Given the description of an element on the screen output the (x, y) to click on. 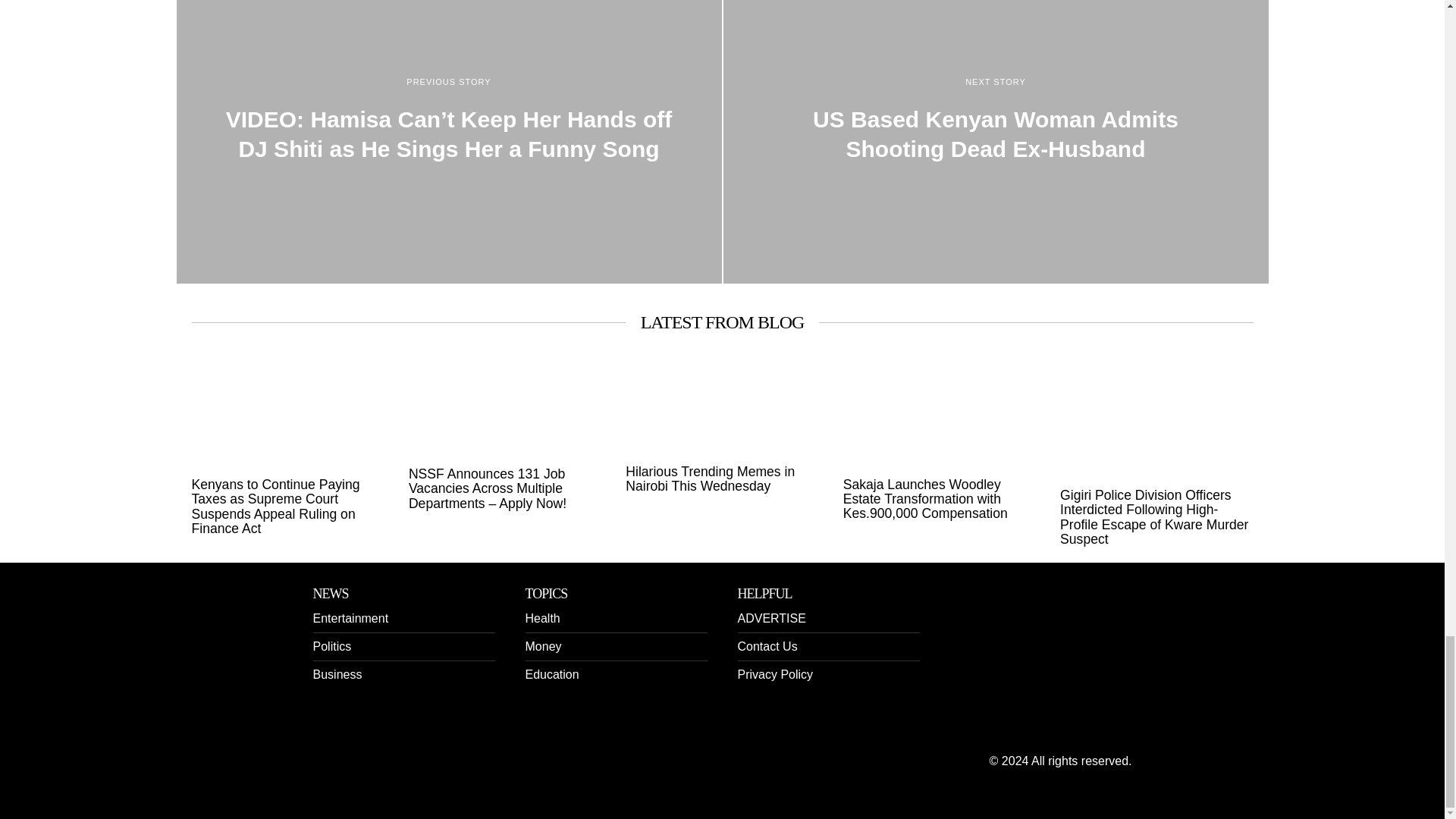
Business (337, 674)
Entertainment (350, 617)
Health (541, 617)
Money (542, 645)
Politics (331, 645)
Hilarious Trending Memes in Nairobi This Wednesday (722, 479)
